Given the description of an element on the screen output the (x, y) to click on. 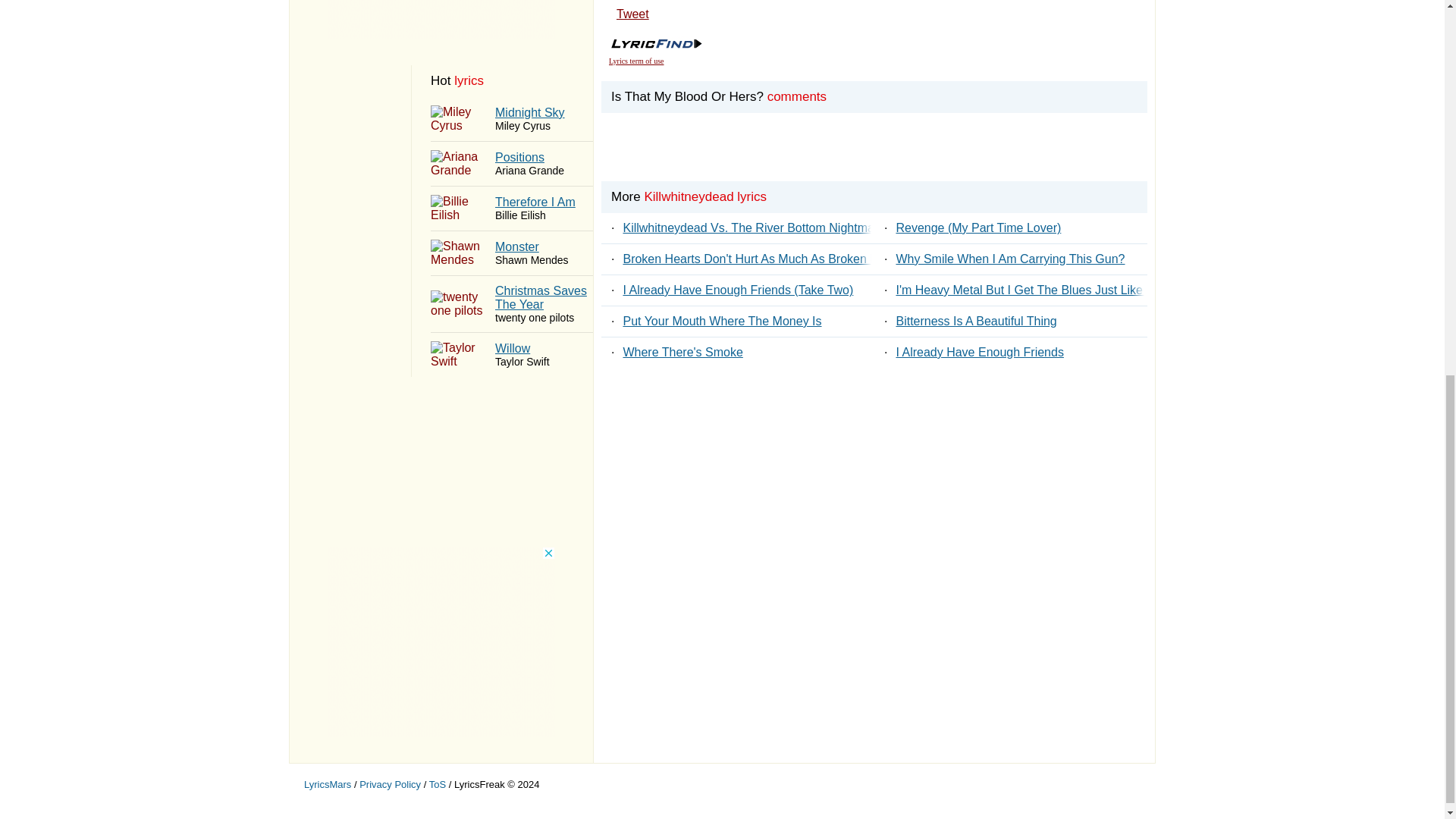
3rd party ad content (511, 207)
Lyrics term of use (511, 354)
Tweet (511, 163)
Killwhitneydead Vs. The River Bottom Nightmare Band lyrics (440, 19)
3rd party ad content (635, 60)
